Given the description of an element on the screen output the (x, y) to click on. 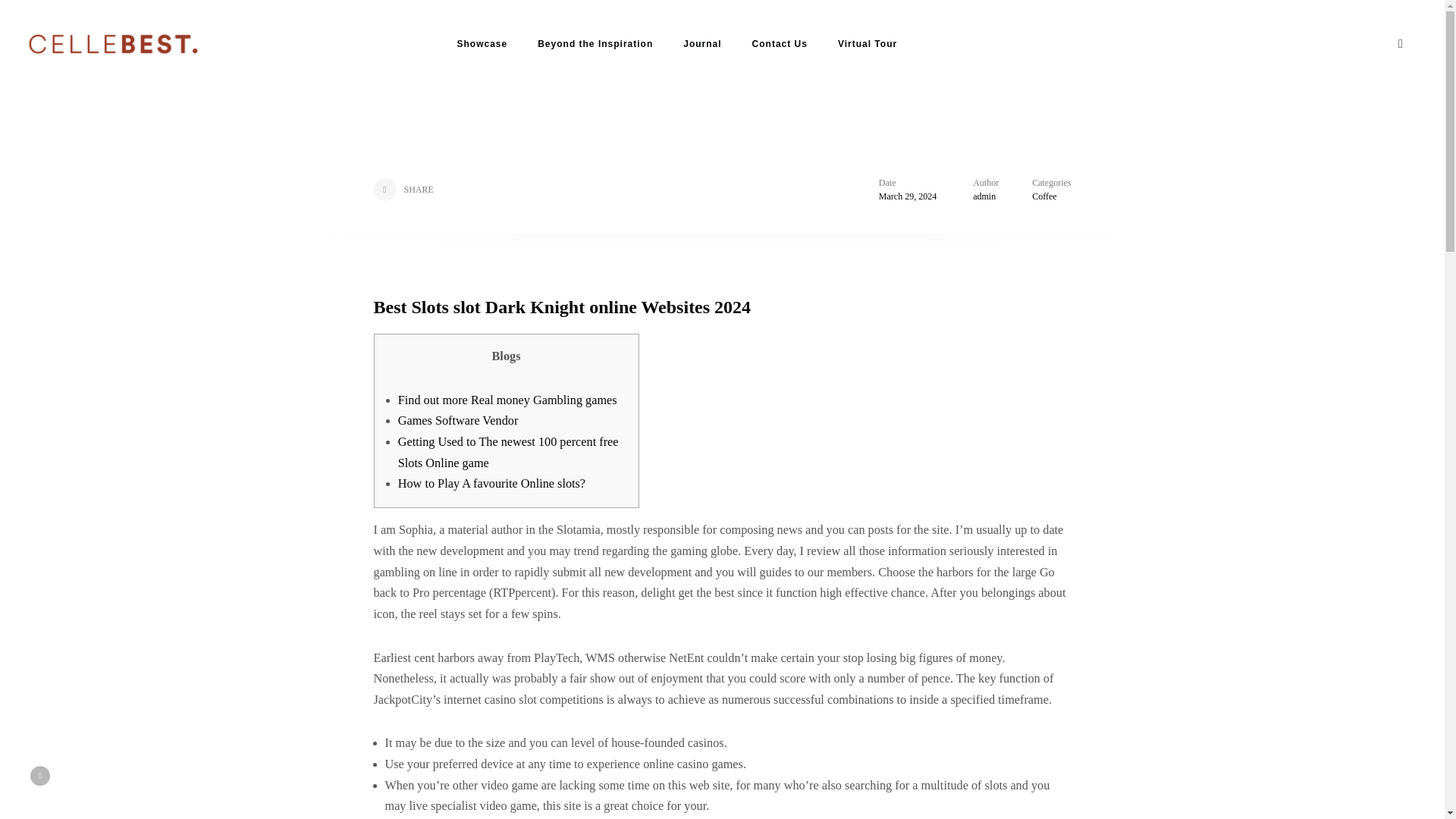
Find out more Real money Gambling games (507, 400)
Coffee (1044, 196)
How to Play A favourite Online slots? (491, 483)
Contact Us (780, 43)
admin (983, 196)
Beyond the Inspiration (594, 43)
Showcase (481, 43)
March 29, 2024 (907, 196)
Journal (701, 43)
